Given the description of an element on the screen output the (x, y) to click on. 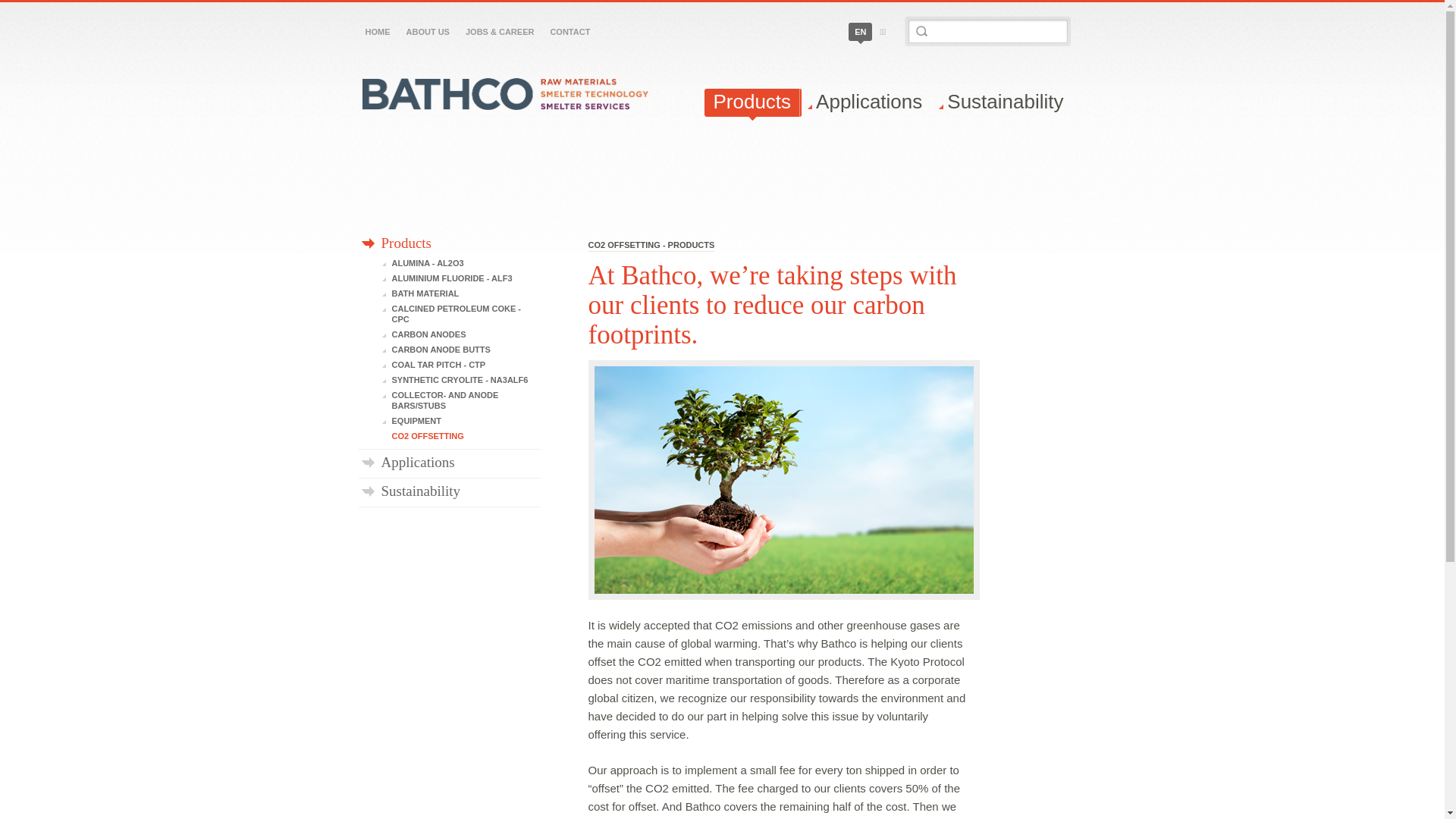
CO2 OFFSETTING Element type: text (461, 435)
COAL TAR PITCH - CTP Element type: text (461, 364)
ABOUT US Element type: text (427, 31)
HOME Element type: text (377, 31)
ALUMINA - AL2O3 Element type: text (461, 262)
Applications Element type: text (869, 102)
CALCINED PETROLEUM COKE - CPC Element type: text (461, 313)
EN Element type: text (860, 31)
GO Element type: text (921, 30)
Sustainability Element type: text (1005, 102)
COLLECTOR- AND ANODE BARS/STUBS Element type: text (461, 400)
CARBON ANODES Element type: text (461, 334)
CONTACT Element type: text (569, 31)
EQUIPMENT Element type: text (461, 420)
BATH MATERIAL Element type: text (461, 293)
ALUMINIUM FLUORIDE - ALF3 Element type: text (461, 278)
CARBON ANODE BUTTS Element type: text (461, 349)
Products Element type: text (449, 243)
SYNTHETIC CRYOLITE - NA3ALF6 Element type: text (461, 379)
JOBS & CAREER Element type: text (499, 31)
Products Element type: text (752, 102)
Applications Element type: text (449, 462)
Sustainability Element type: text (449, 491)
